Given the description of an element on the screen output the (x, y) to click on. 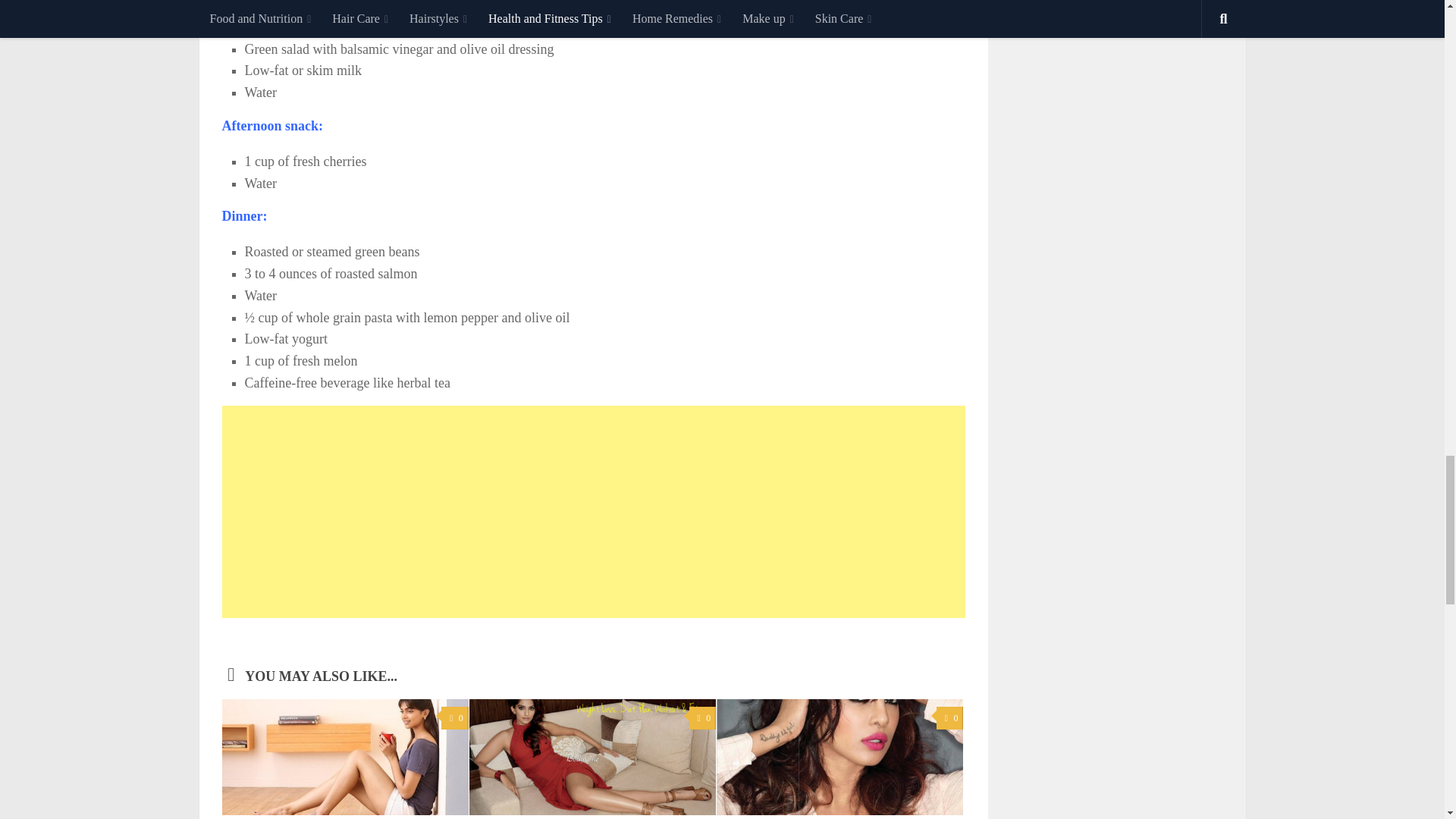
Advertisement (592, 511)
